Given the description of an element on the screen output the (x, y) to click on. 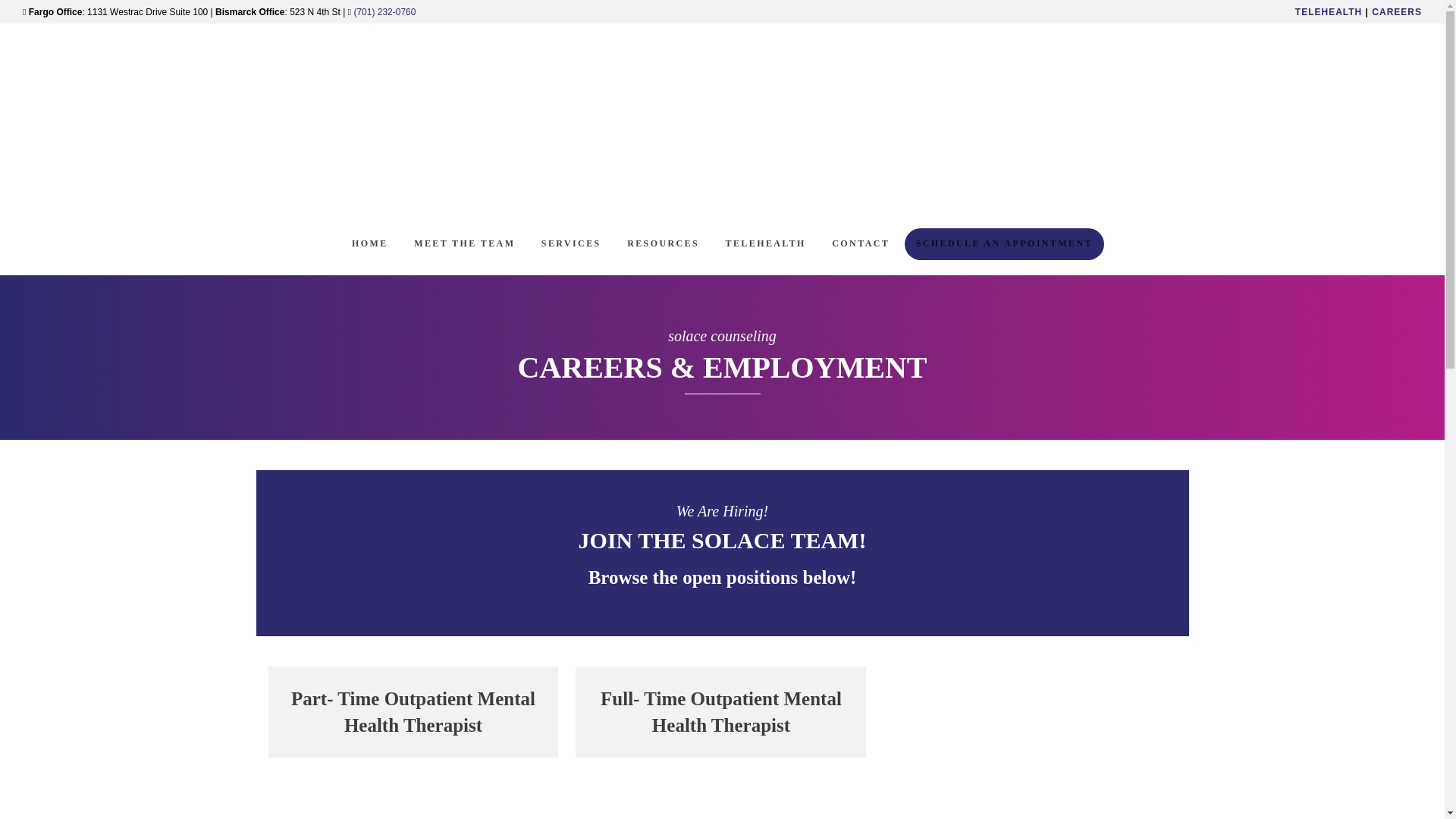
MEET THE TEAM (464, 244)
SCHEDULE AN APPOINTMENT (1003, 244)
CONTACT (861, 244)
TELEHEALTH (1328, 11)
Part- Time Outpatient Mental Health Therapist (413, 711)
CAREERS (1396, 11)
TELEHEALTH (765, 244)
HOME (369, 244)
Full- Time Outpatient Mental Health Therapist (720, 711)
SERVICES (570, 244)
RESOURCES (662, 244)
